Given the description of an element on the screen output the (x, y) to click on. 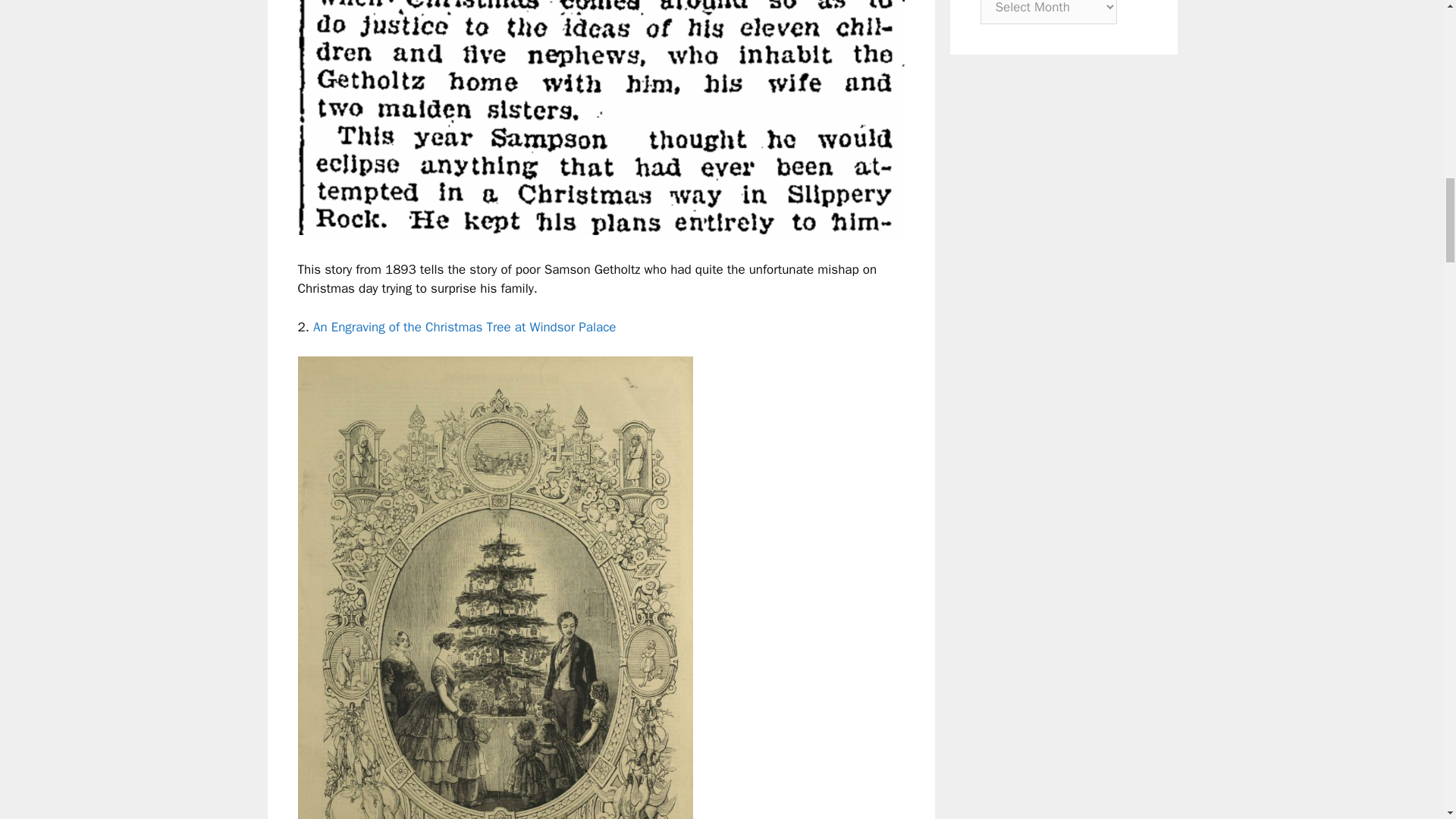
An Engraving of the Christmas Tree at Windsor Palace (464, 326)
